Given the description of an element on the screen output the (x, y) to click on. 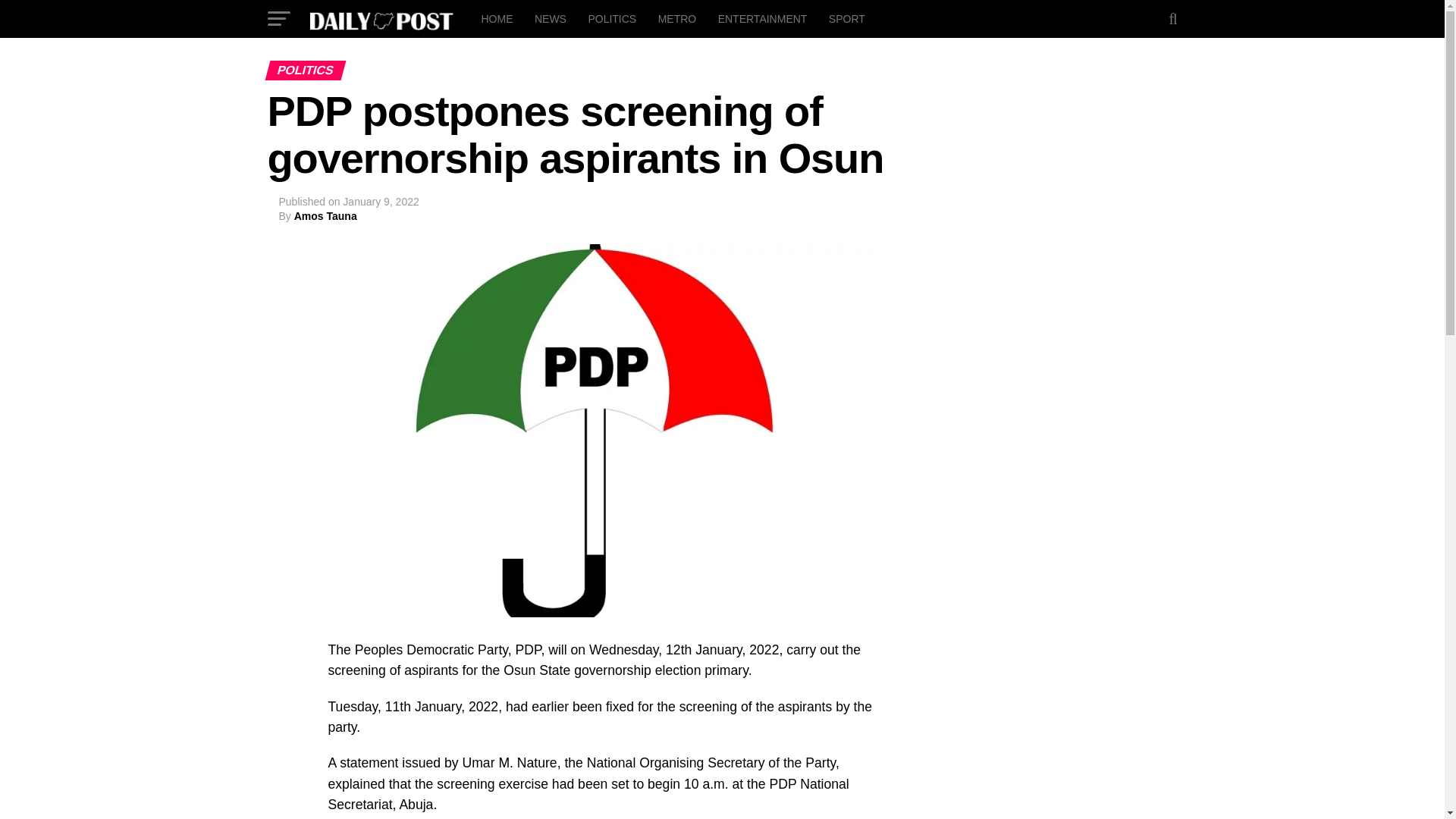
METRO (677, 18)
HOME (496, 18)
NEWS (550, 18)
ENTERTAINMENT (762, 18)
Amos Tauna (325, 215)
SPORT (847, 18)
Posts by Amos Tauna (325, 215)
POLITICS (611, 18)
